Given the description of an element on the screen output the (x, y) to click on. 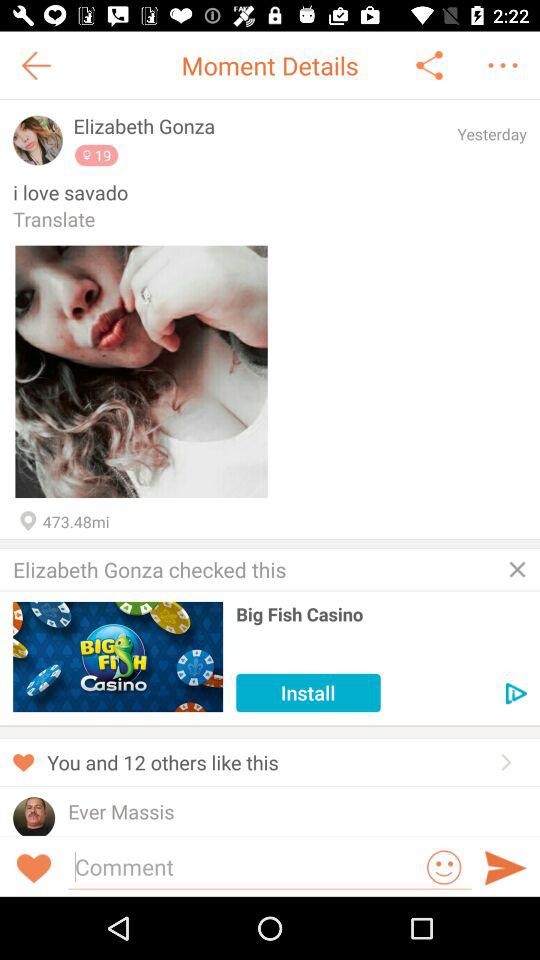
profile pic (38, 140)
